Given the description of an element on the screen output the (x, y) to click on. 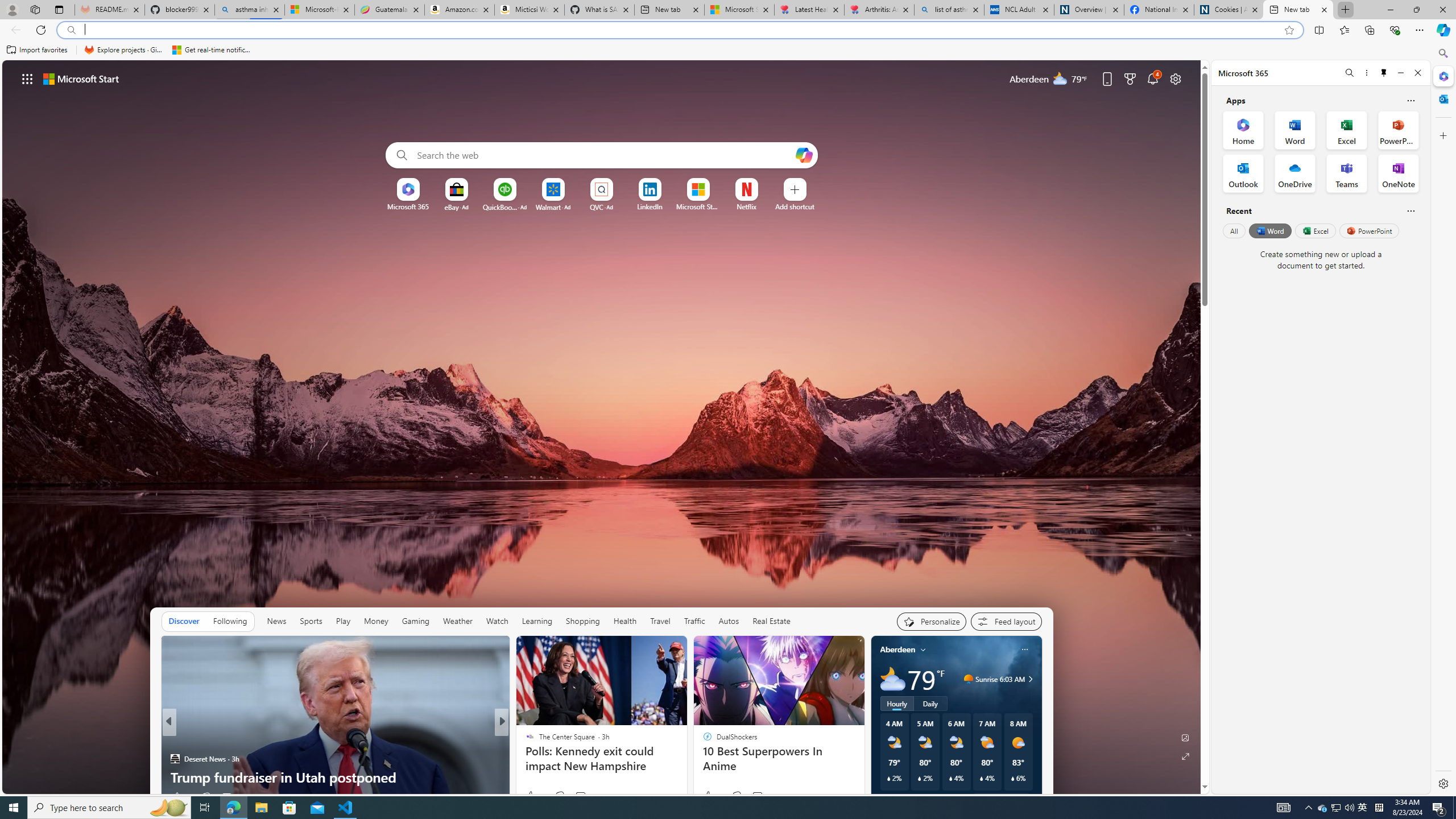
308 Like (182, 796)
View comments 25 Comment (576, 797)
WatchMojo (524, 758)
View comments 26 Comment (234, 796)
View comments 226 Comment (576, 797)
Is this helpful? (1410, 210)
View comments 88 Comment (580, 797)
